Given the description of an element on the screen output the (x, y) to click on. 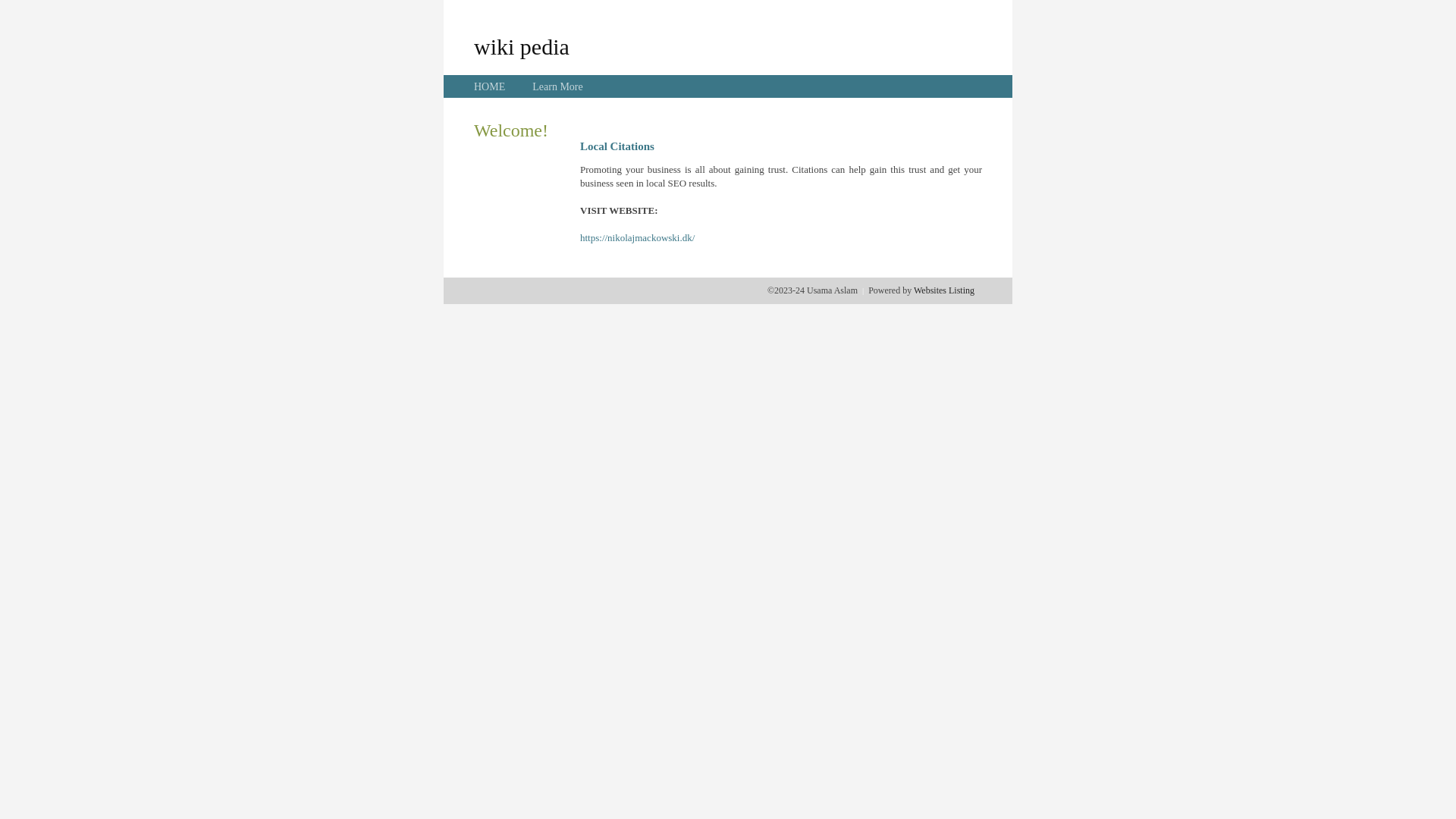
Learn More Element type: text (557, 86)
wiki pedia Element type: text (521, 46)
https://nikolajmackowski.dk/ Element type: text (637, 237)
HOME Element type: text (489, 86)
Websites Listing Element type: text (943, 290)
